Given the description of an element on the screen output the (x, y) to click on. 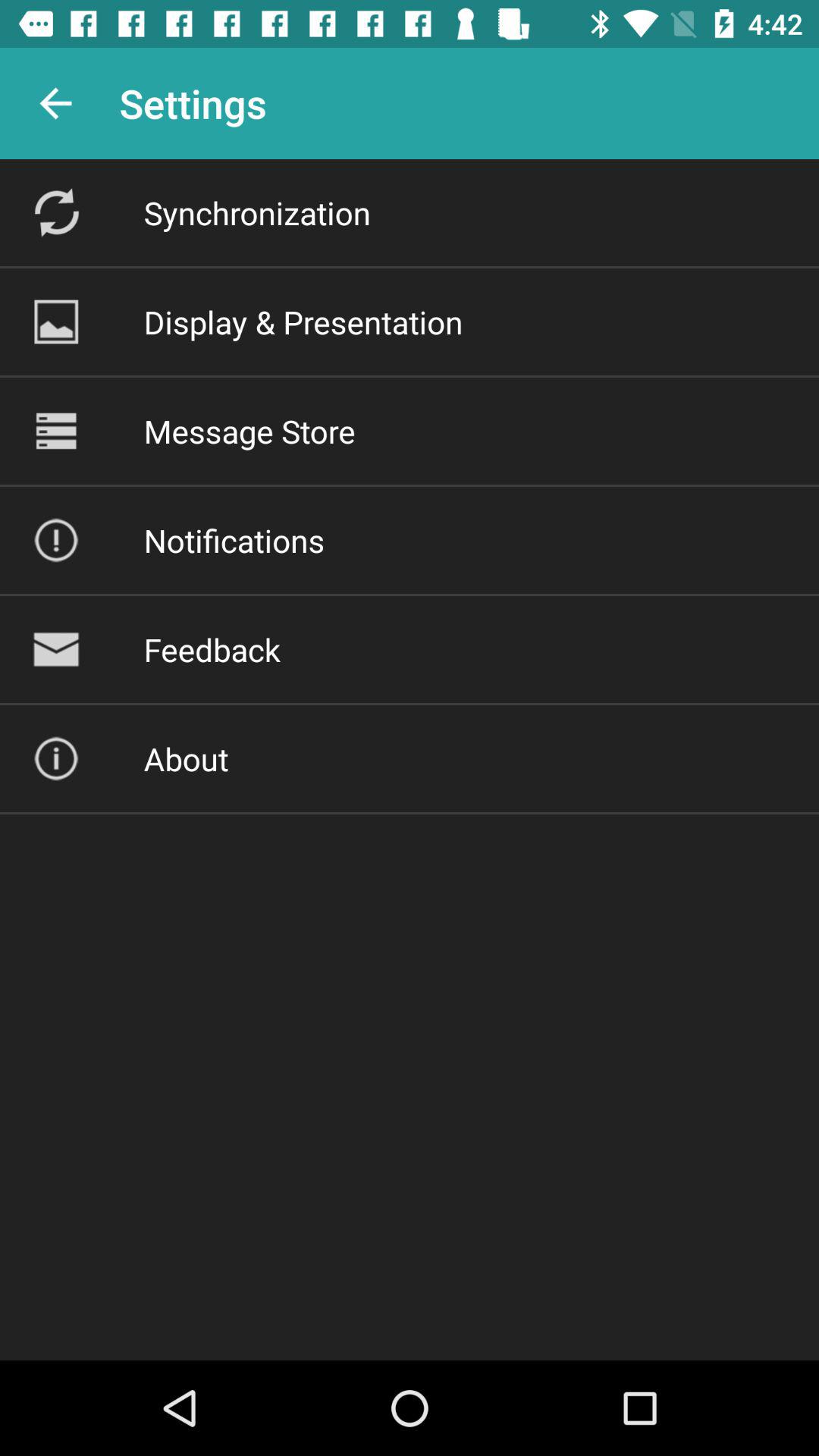
turn on the message store icon (249, 430)
